Given the description of an element on the screen output the (x, y) to click on. 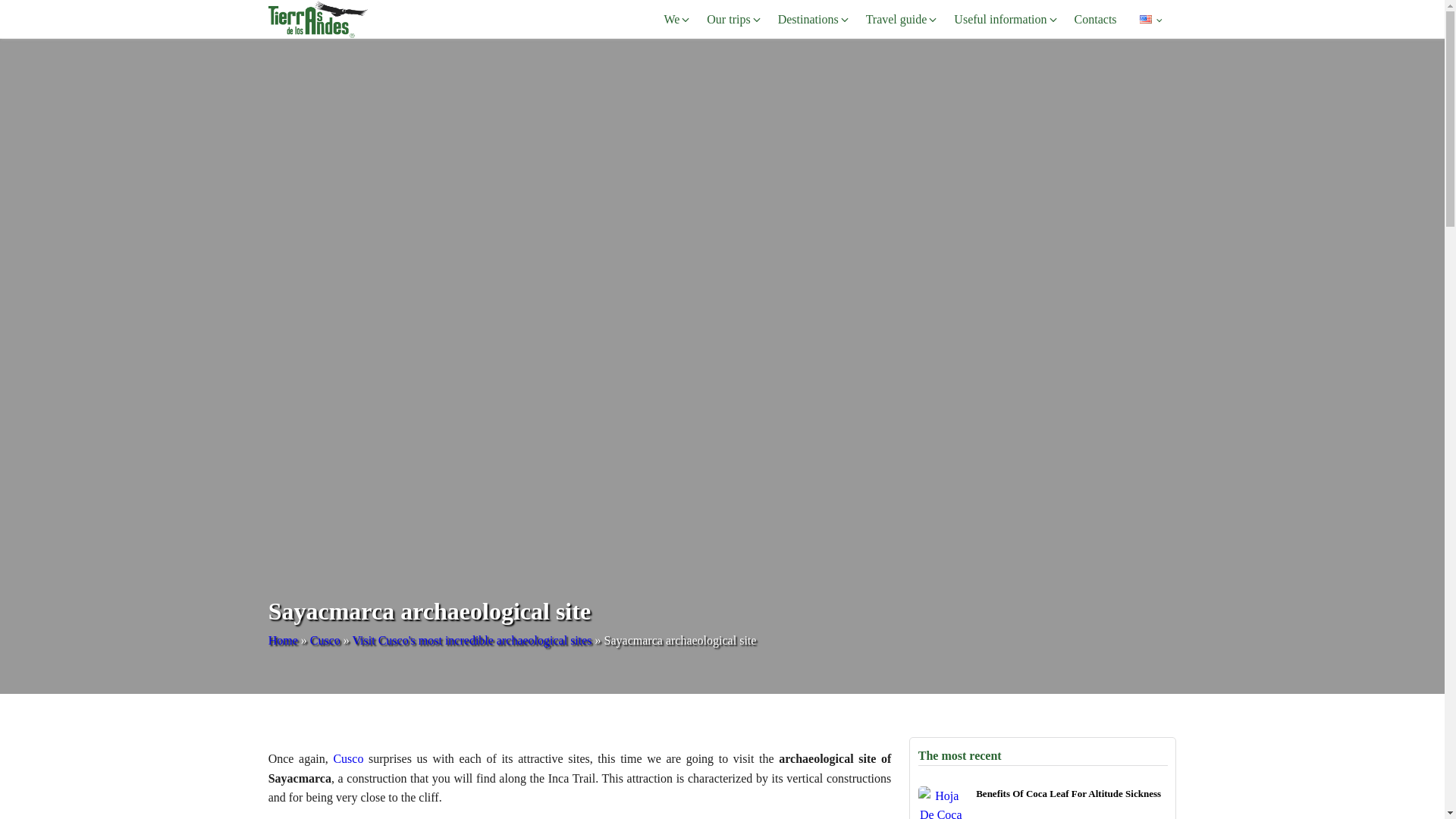
Our trips (734, 19)
Travel guide (903, 19)
We (677, 19)
Destinations (814, 19)
